Given the description of an element on the screen output the (x, y) to click on. 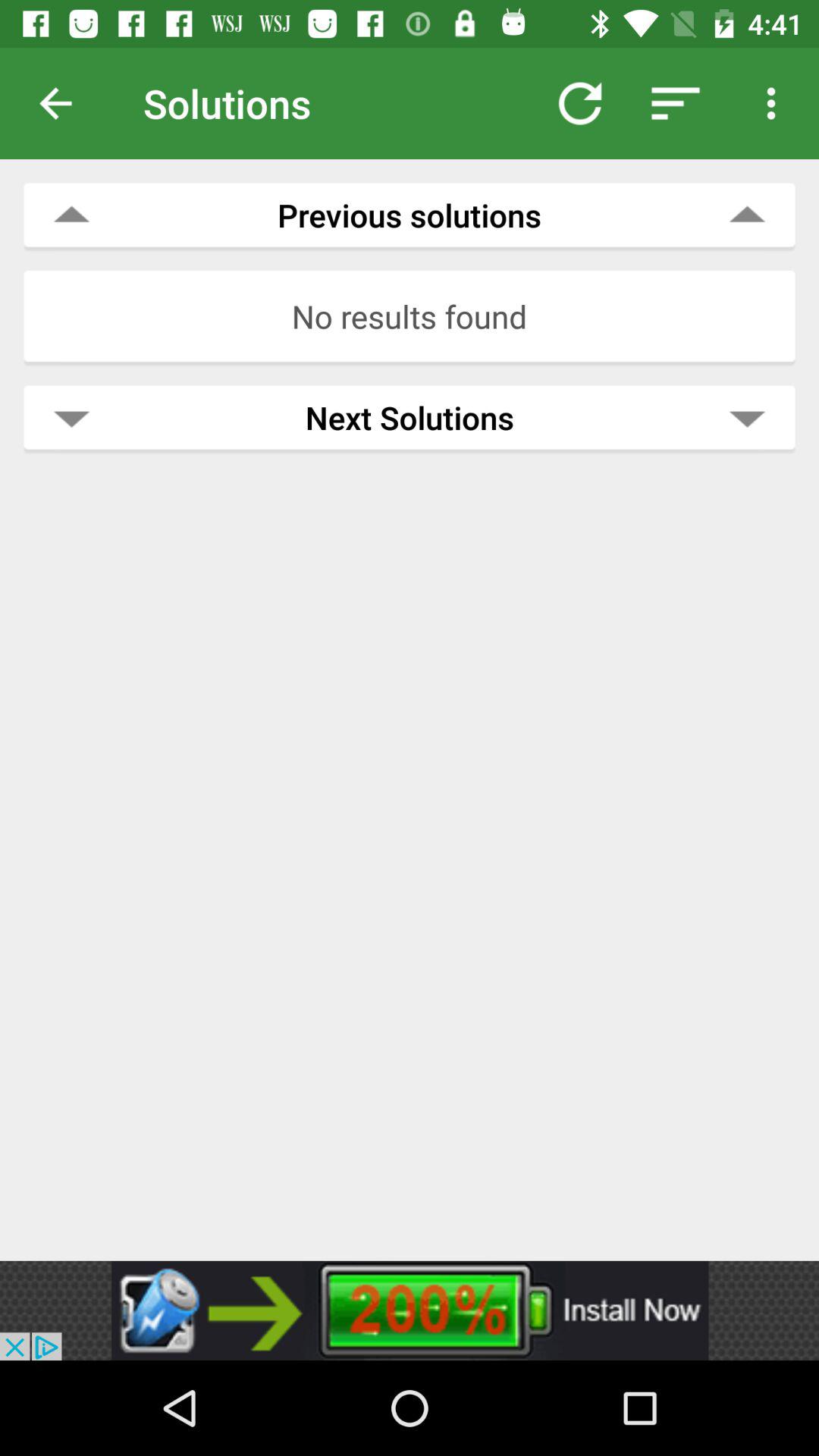
go back (67, 103)
